Given the description of an element on the screen output the (x, y) to click on. 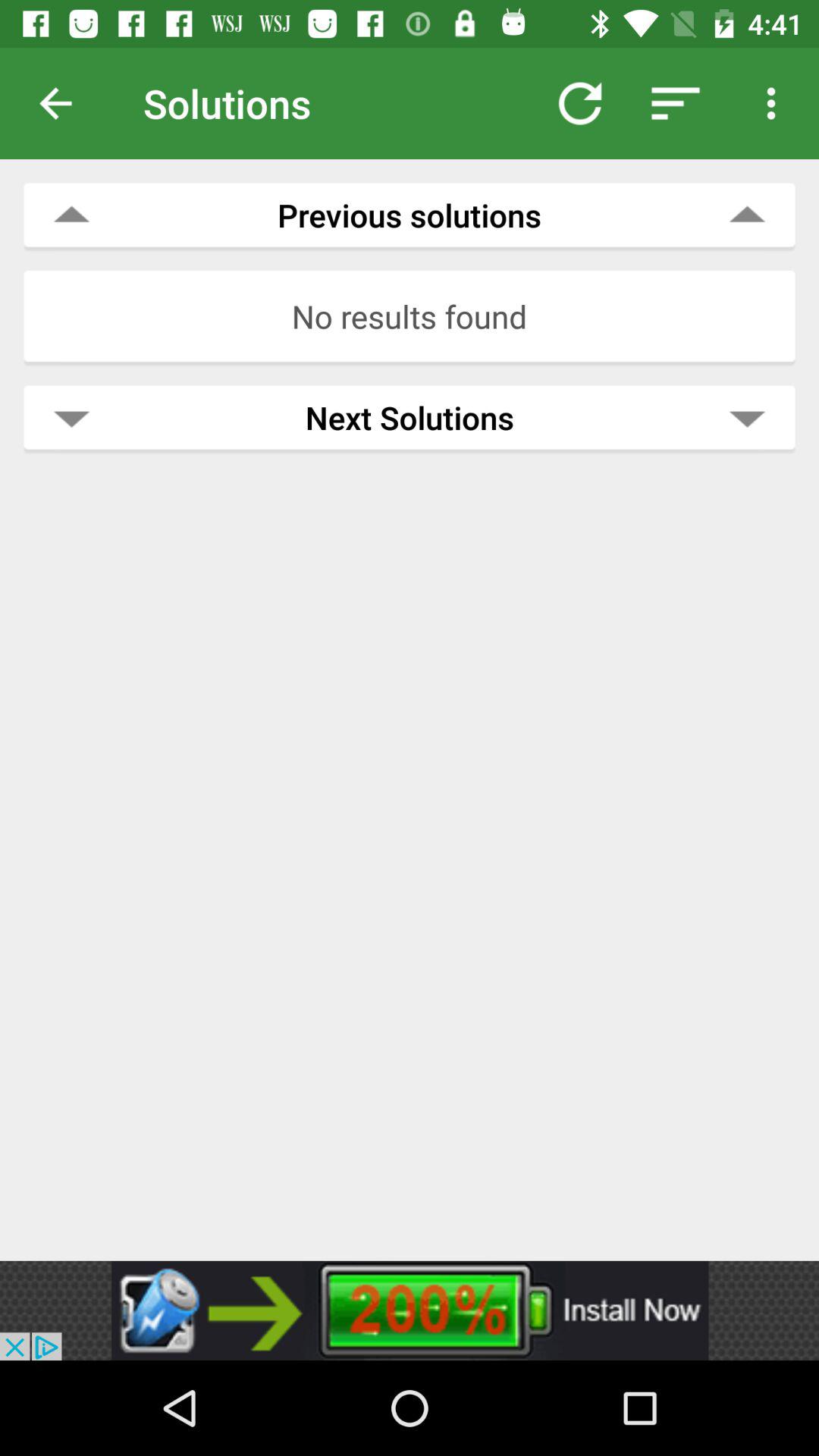
go back (67, 103)
